Given the description of an element on the screen output the (x, y) to click on. 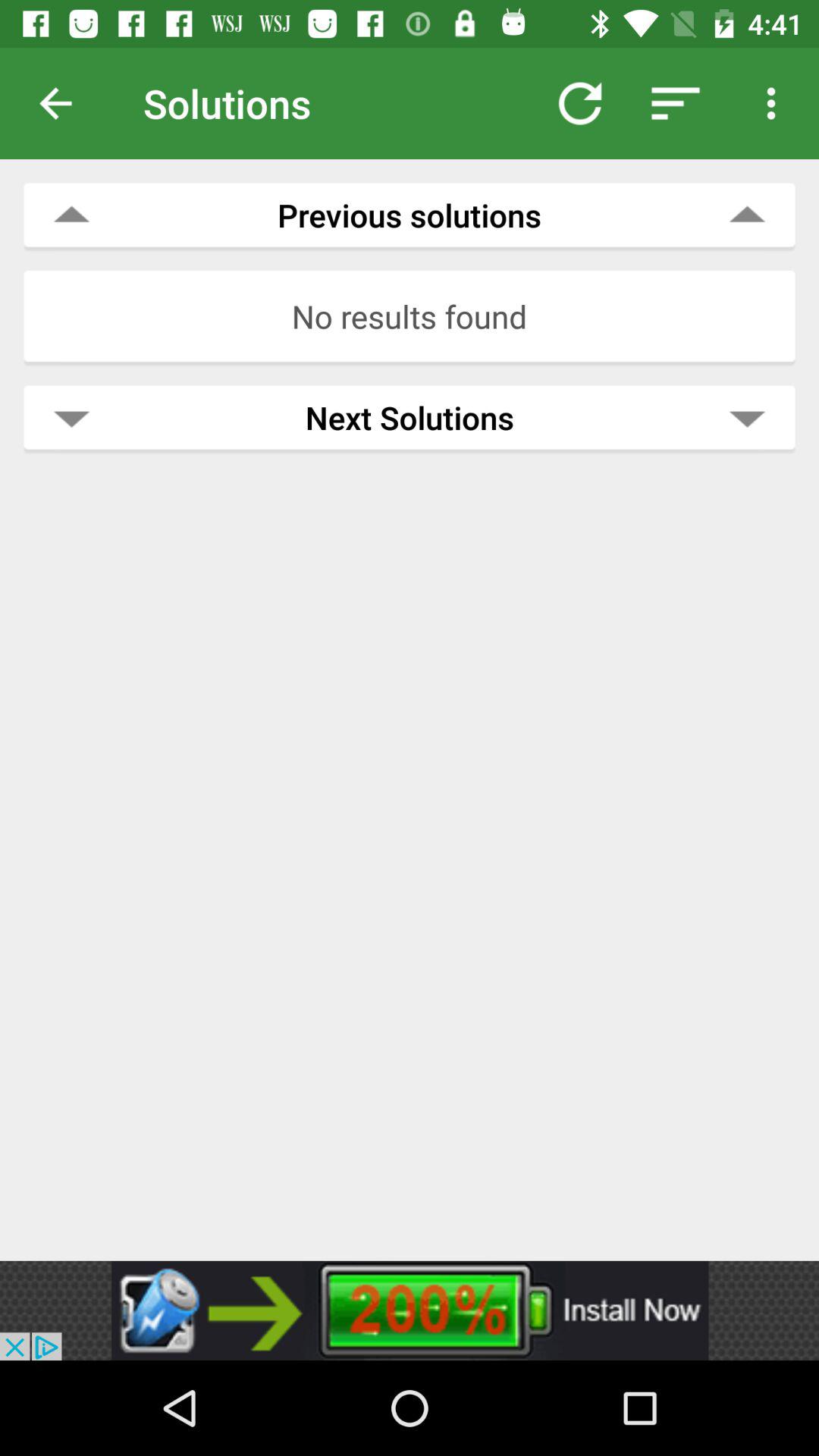
go back (67, 103)
